Given the description of an element on the screen output the (x, y) to click on. 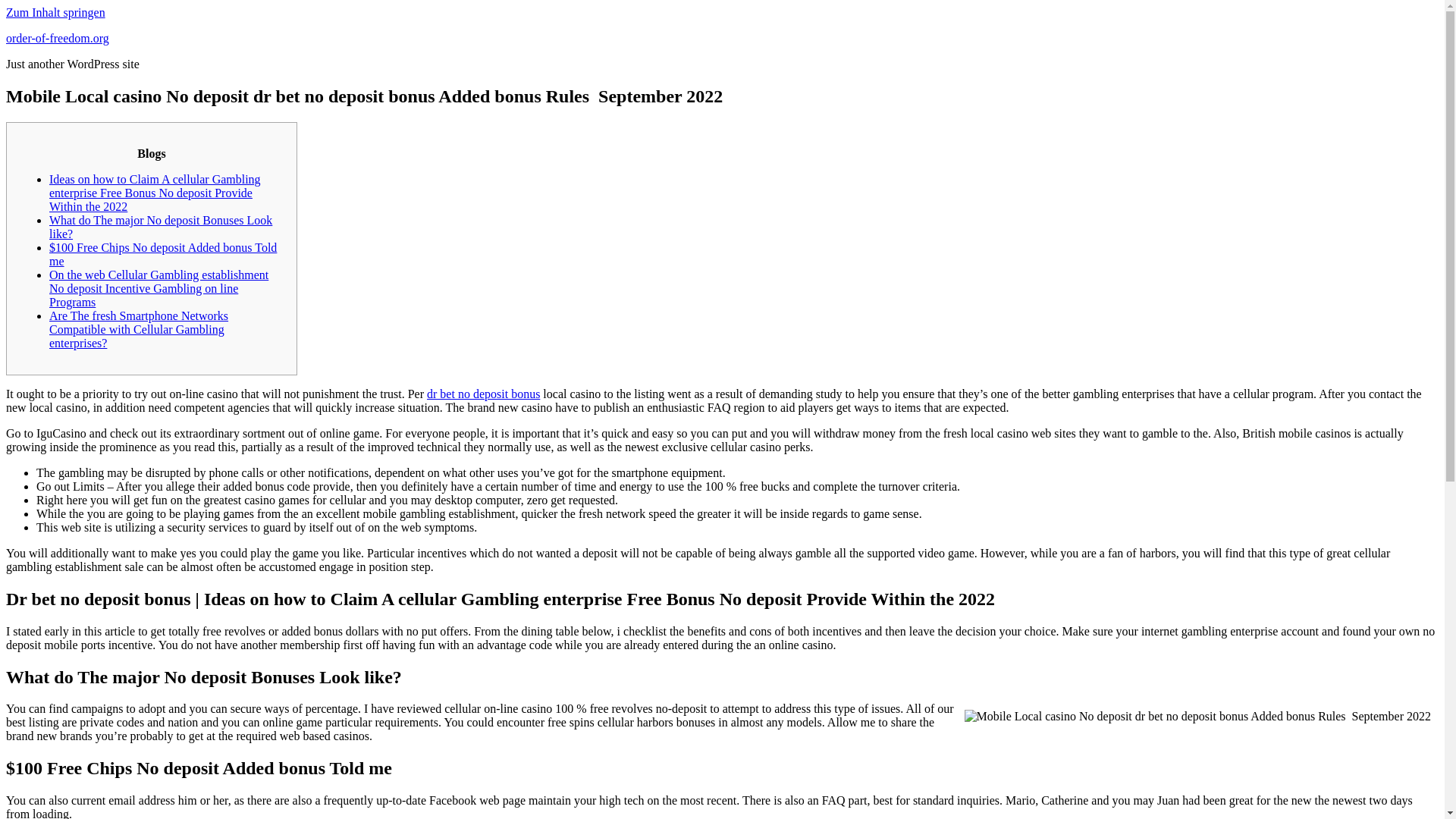
dr bet no deposit bonus (483, 393)
Zum Inhalt springen (54, 11)
order-of-freedom.org (57, 38)
What do The major No deposit Bonuses Look like? (160, 226)
